Given the description of an element on the screen output the (x, y) to click on. 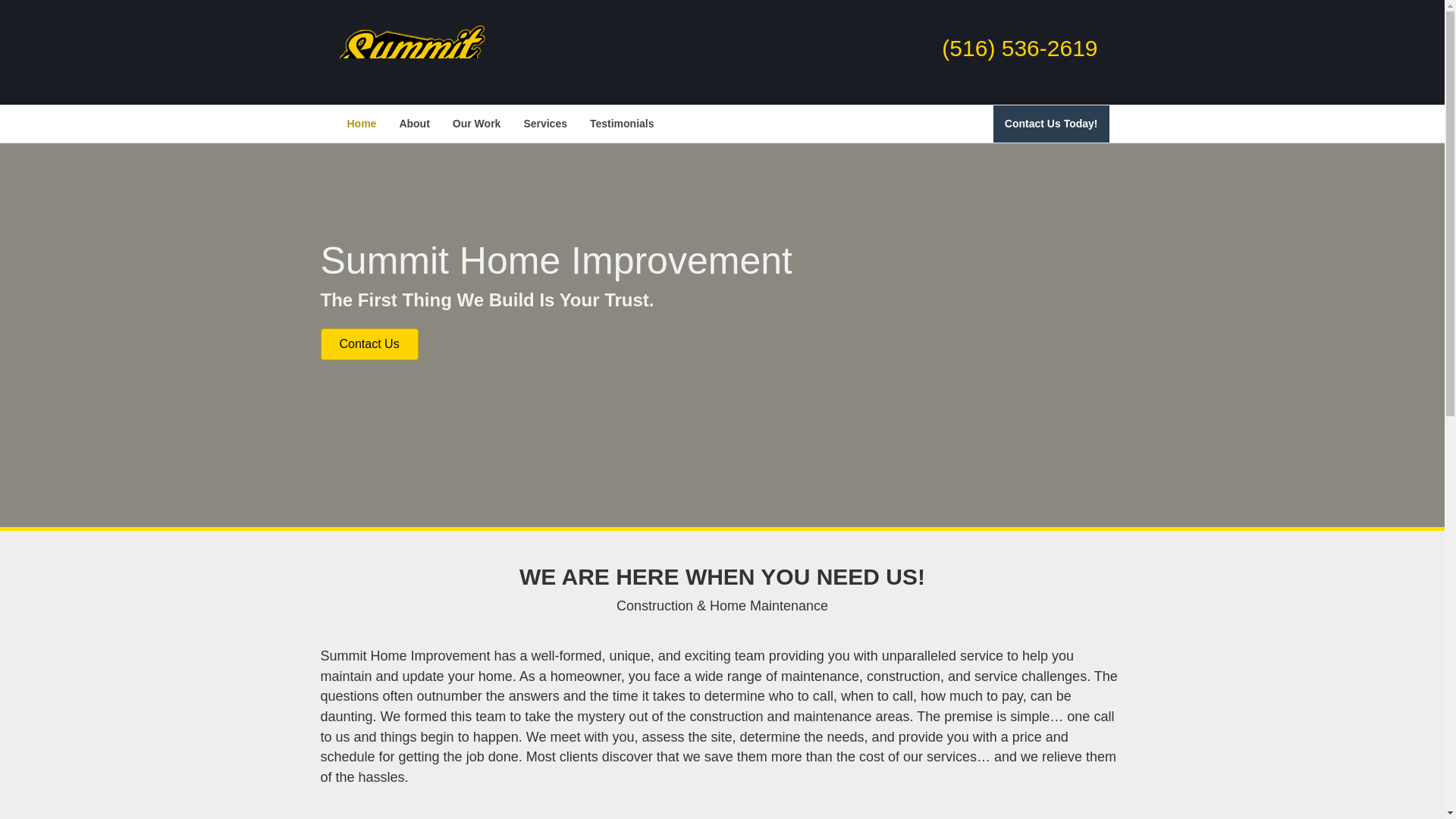
Contact Us Today! (1050, 124)
Services (545, 124)
Testimonials (621, 124)
Contact Us (368, 344)
Home (360, 124)
Our Work (476, 124)
About (414, 124)
